Given the description of an element on the screen output the (x, y) to click on. 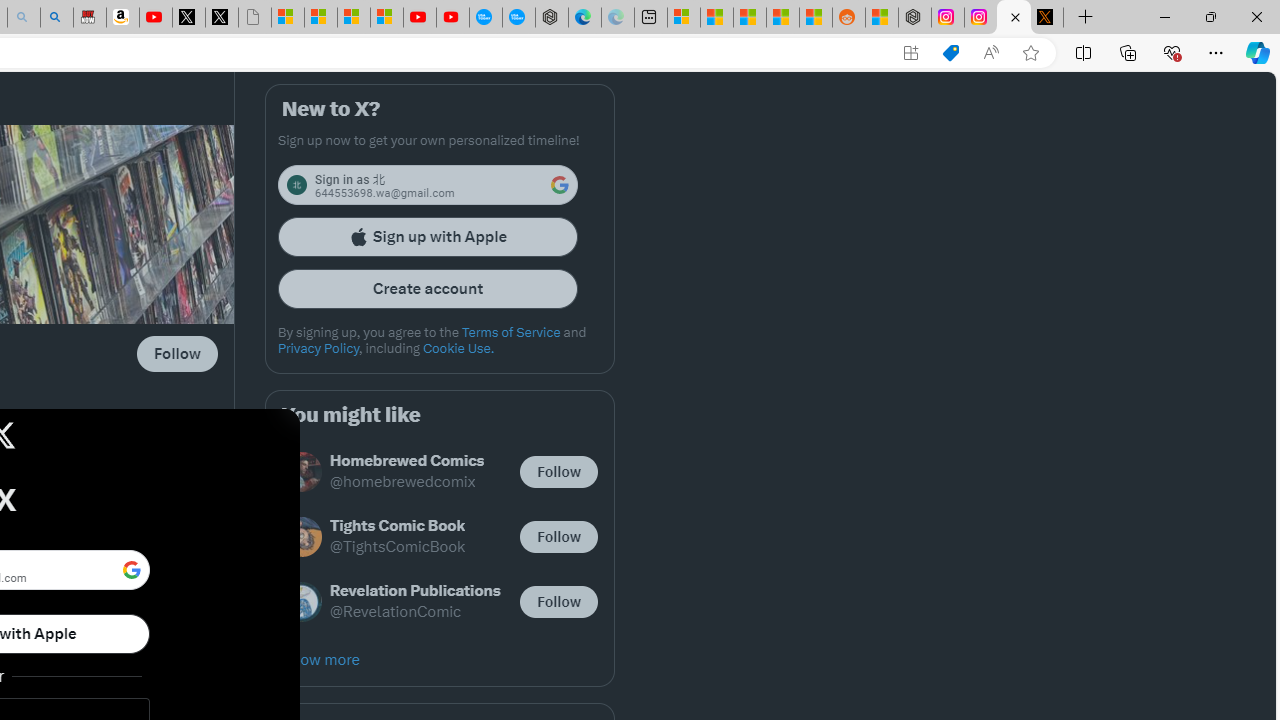
X (222, 17)
Shopping in Microsoft Edge (950, 53)
Shanghai, China hourly forecast | Microsoft Weather (749, 17)
Log in to X / X (1014, 17)
YouTube Kids - An App Created for Kids to Explore Content (452, 17)
help.x.com | 524: A timeout occurred (1046, 17)
